Given the description of an element on the screen output the (x, y) to click on. 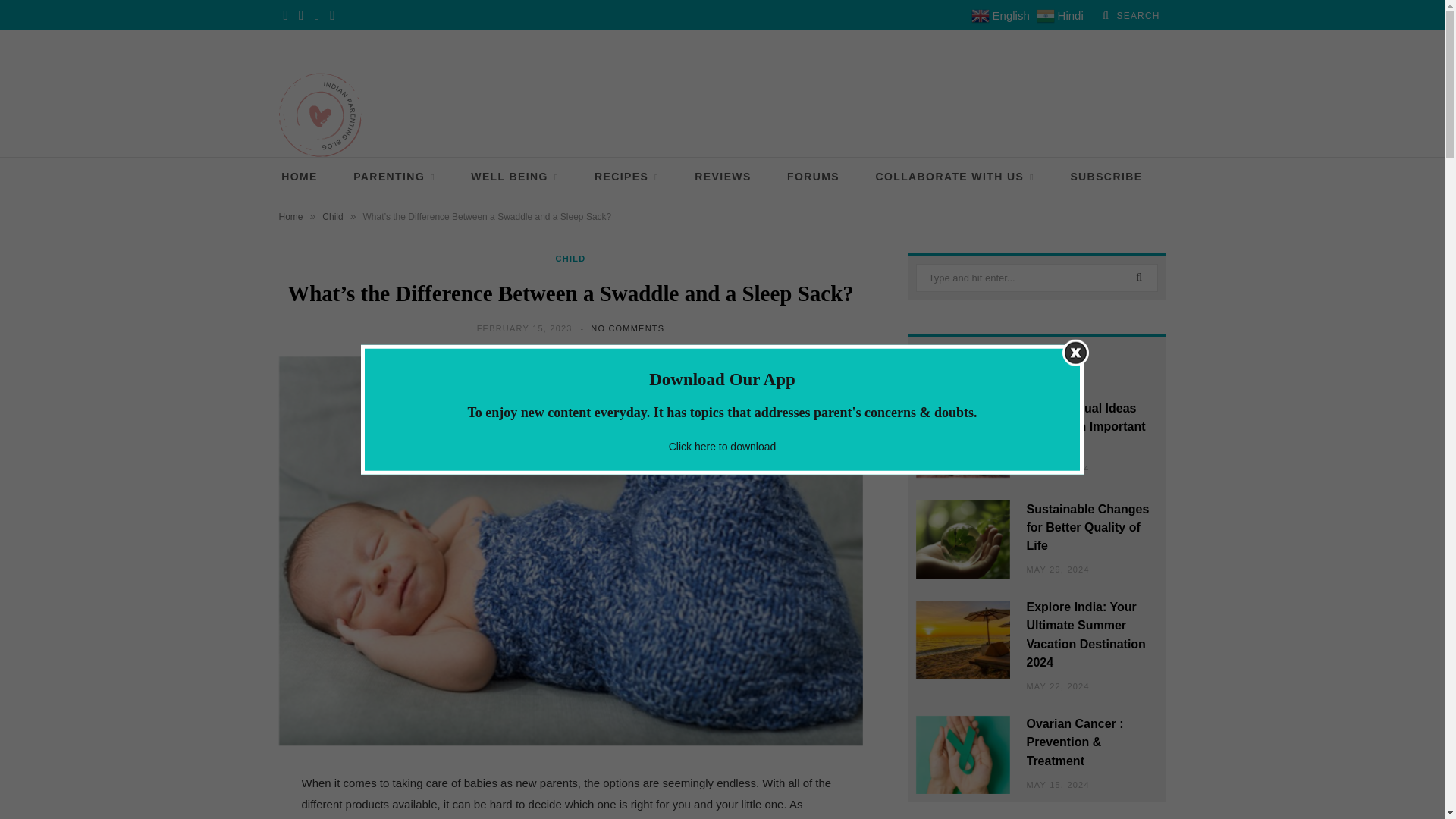
Indian Parenting Blog (320, 114)
HOME (298, 176)
English (1002, 15)
Hindi (1061, 15)
English (1002, 15)
Instagram (301, 15)
Hindi (1061, 15)
YouTube (331, 15)
Facebook (286, 15)
Search for: (1036, 277)
Pinterest (317, 15)
PARENTING (394, 176)
